Given the description of an element on the screen output the (x, y) to click on. 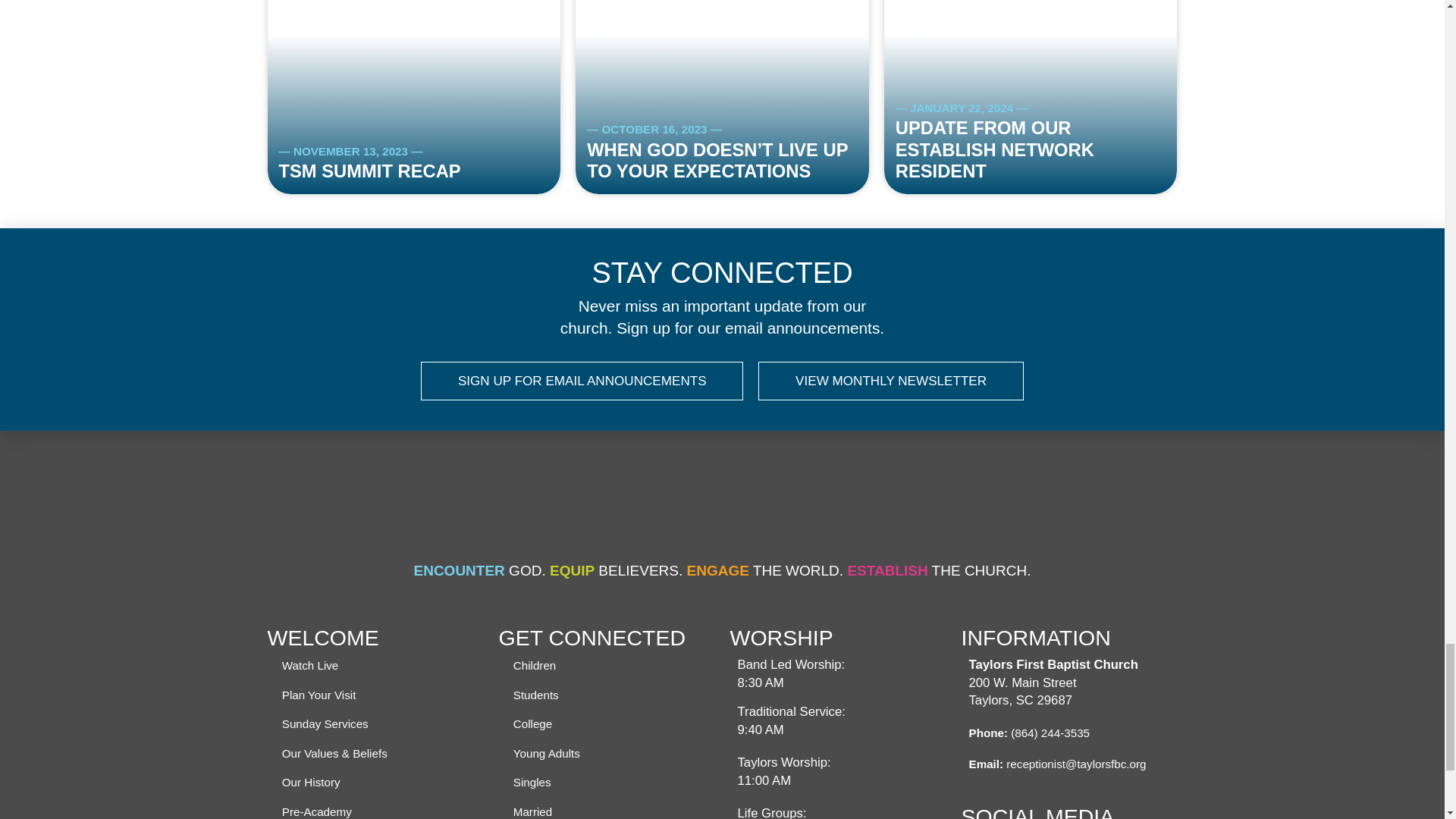
Plan Your Visit (317, 696)
VIEW MONTHLY NEWSLETTER (890, 380)
College (533, 725)
Married (533, 810)
Young Adults (547, 754)
Singles (532, 783)
Pre-Academy (316, 810)
Children (534, 667)
Students (536, 696)
Watch Live (309, 667)
